Given the description of an element on the screen output the (x, y) to click on. 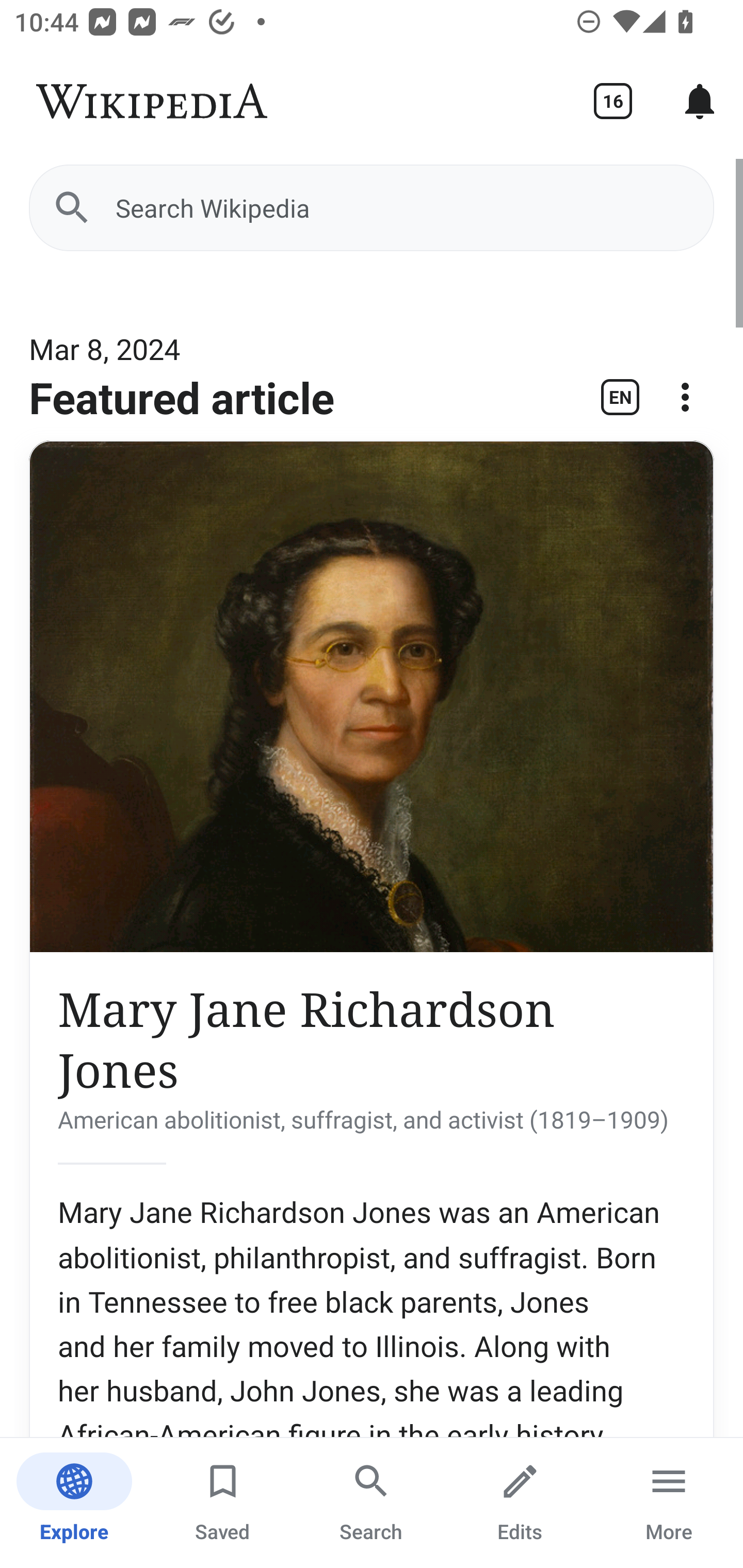
Show tabs 16 (612, 101)
Notifications (699, 101)
Search Wikipedia (371, 207)
More options (684, 404)
Saved (222, 1502)
Search (371, 1502)
Edits (519, 1502)
More (668, 1502)
